Given the description of an element on the screen output the (x, y) to click on. 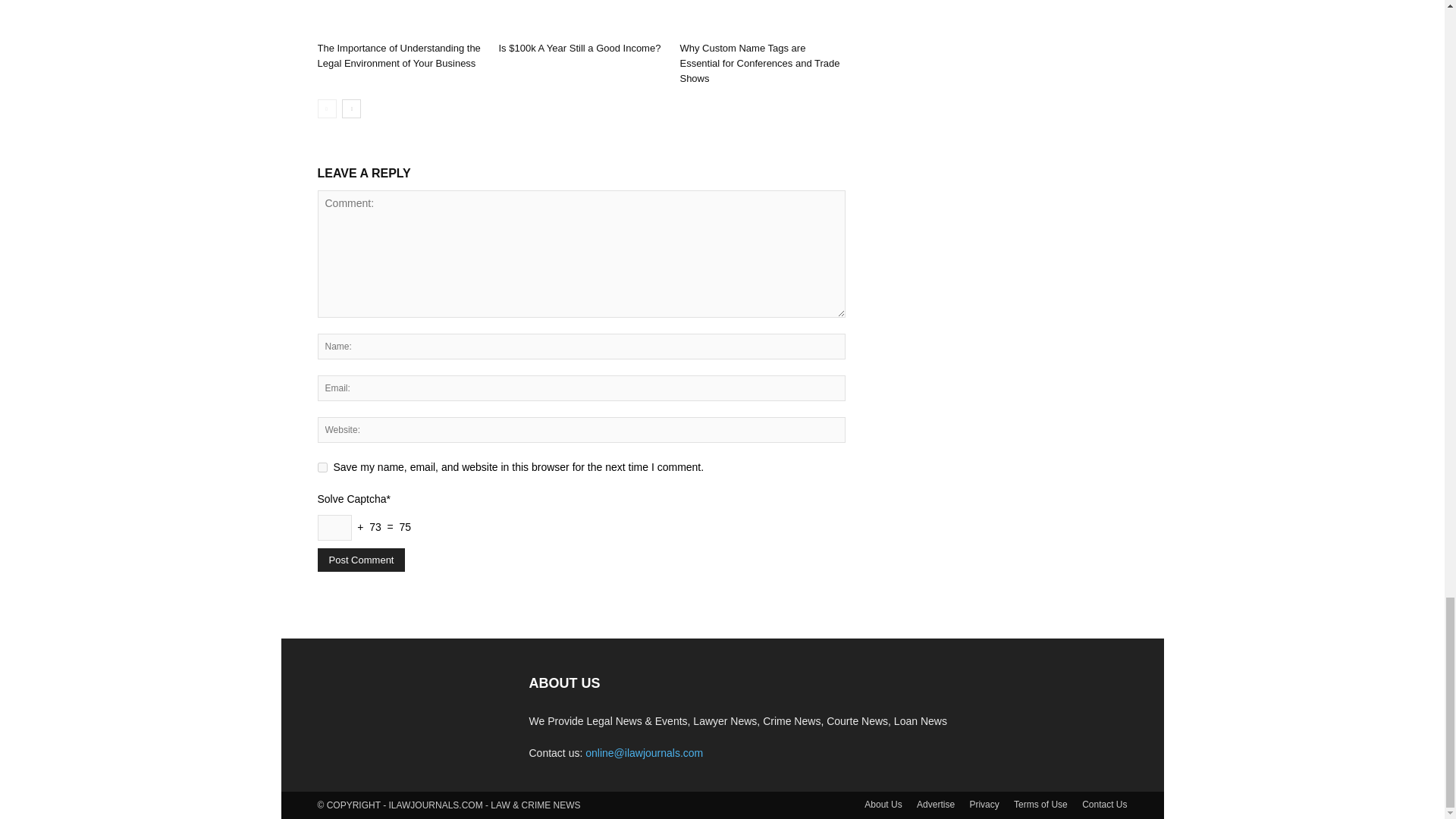
Post Comment (360, 559)
yes (321, 467)
